Given the description of an element on the screen output the (x, y) to click on. 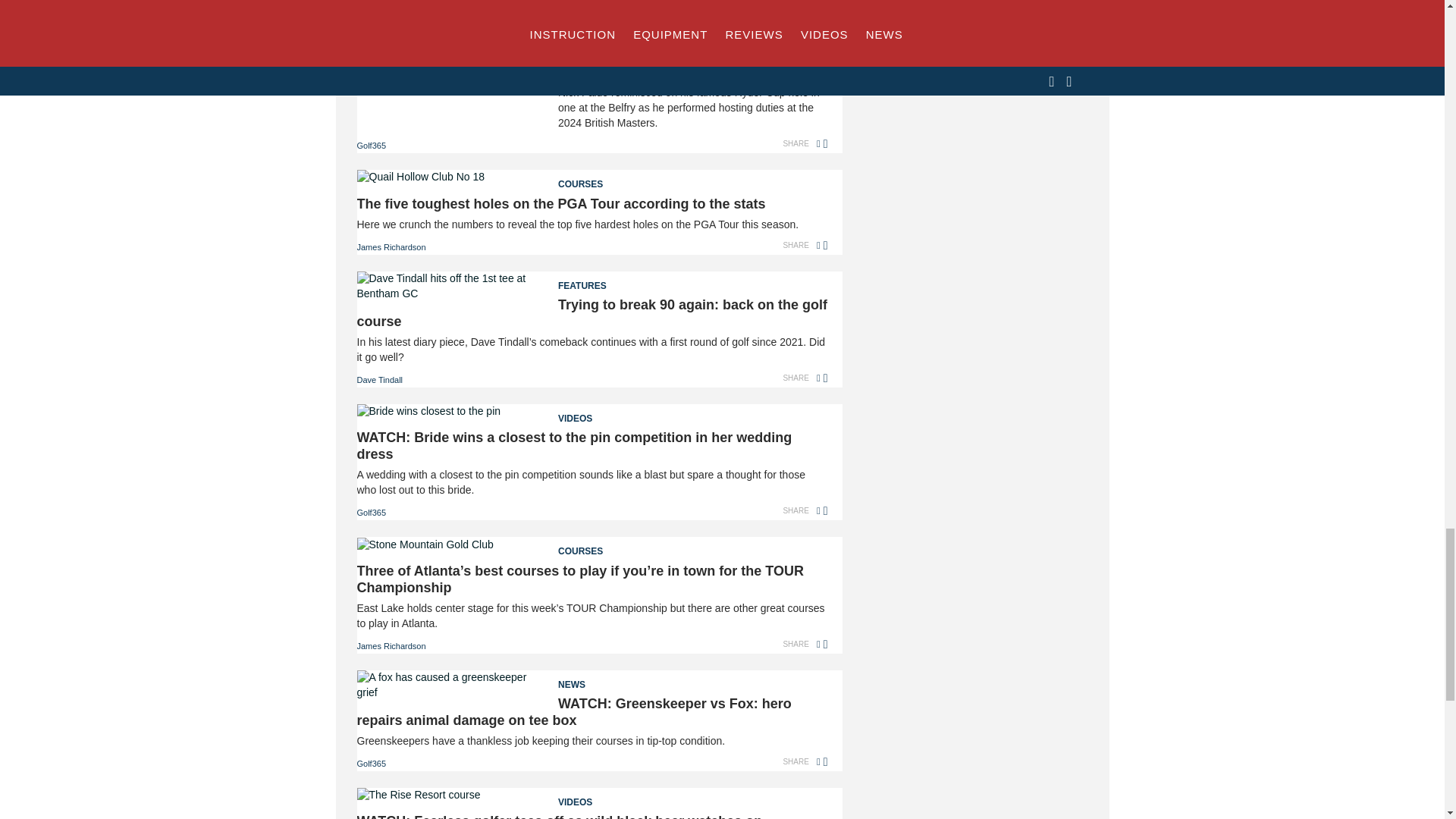
Matt Cooper (379, 1)
NEWS (591, 31)
News (591, 31)
Courses (591, 546)
Videos (591, 414)
News (591, 680)
Features (591, 281)
Golf365 (370, 144)
Courses (591, 179)
Videos (591, 797)
